Given the description of an element on the screen output the (x, y) to click on. 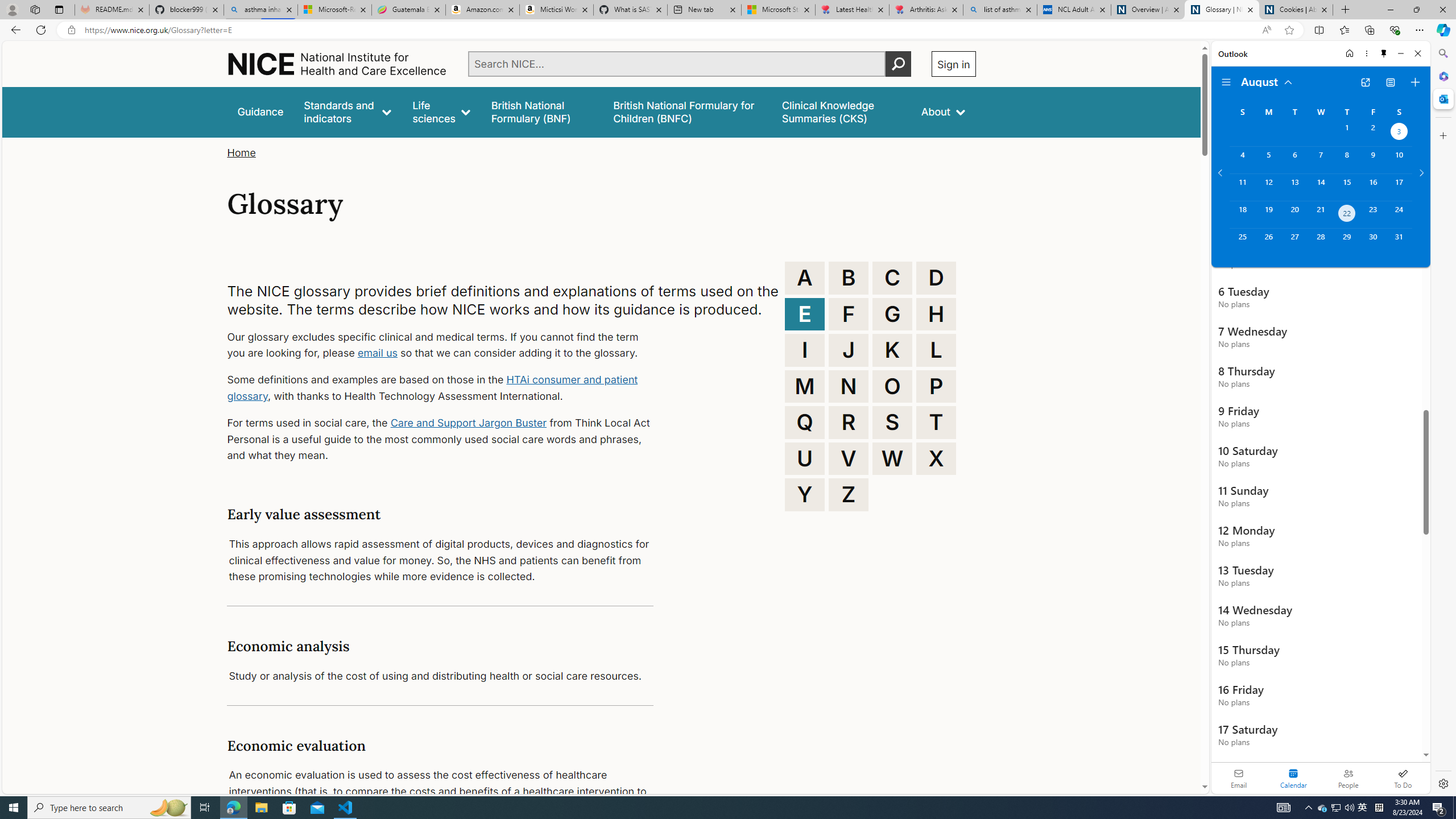
D (935, 277)
Z (848, 494)
K (892, 350)
Side bar (1443, 418)
J (848, 350)
B (848, 277)
Life sciences (440, 111)
B (848, 277)
Glossary | NICE (1221, 9)
Wednesday, August 28, 2024.  (1320, 241)
